Given the description of an element on the screen output the (x, y) to click on. 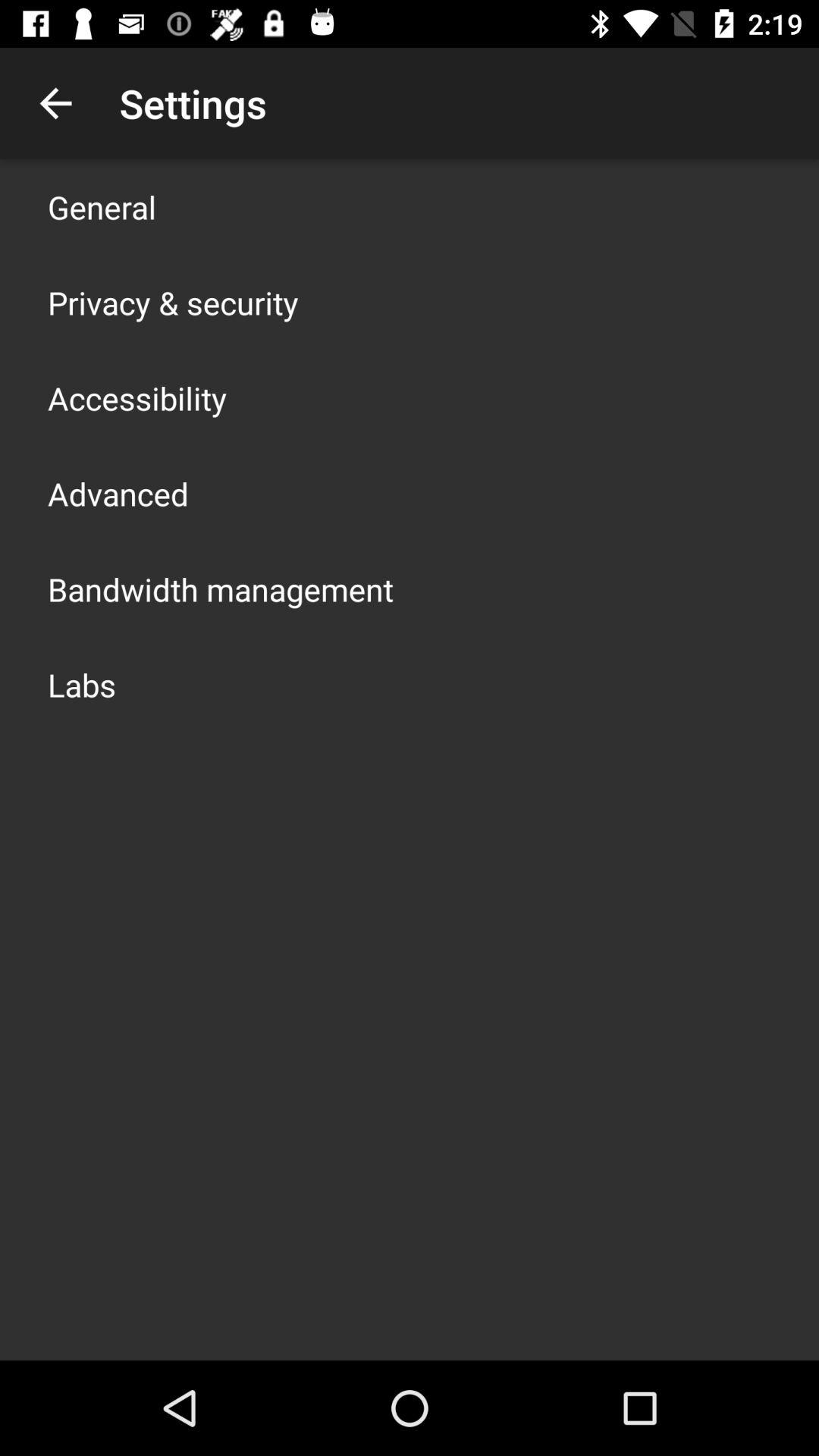
choose general app (101, 206)
